Given the description of an element on the screen output the (x, y) to click on. 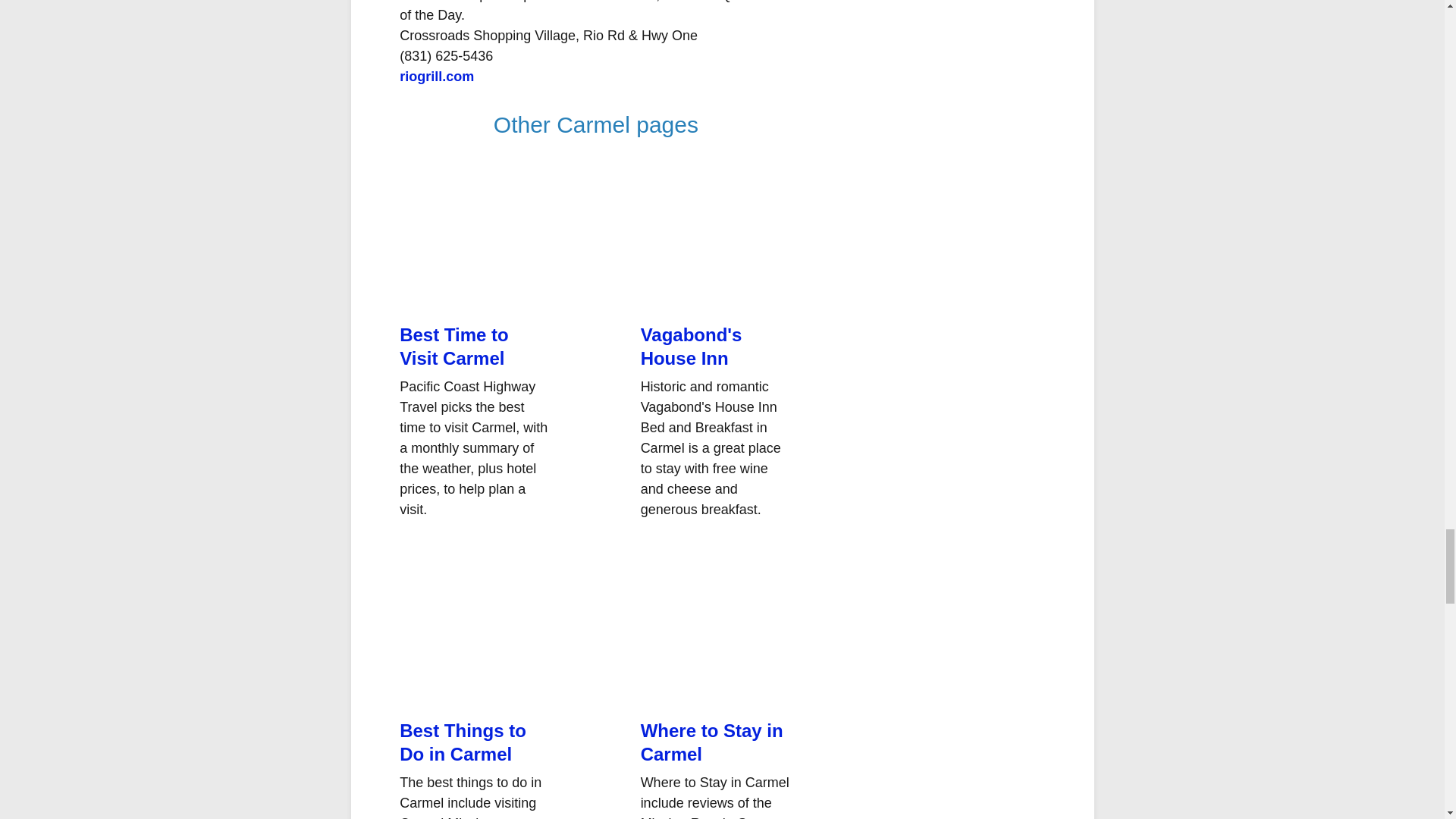
Vagabond's House Inn (691, 346)
Best Time to Visit Carmel (453, 346)
Where to Stay in Carmel (711, 742)
Best Things to Do in Carmel (461, 742)
riogrill.com (436, 76)
